Given the description of an element on the screen output the (x, y) to click on. 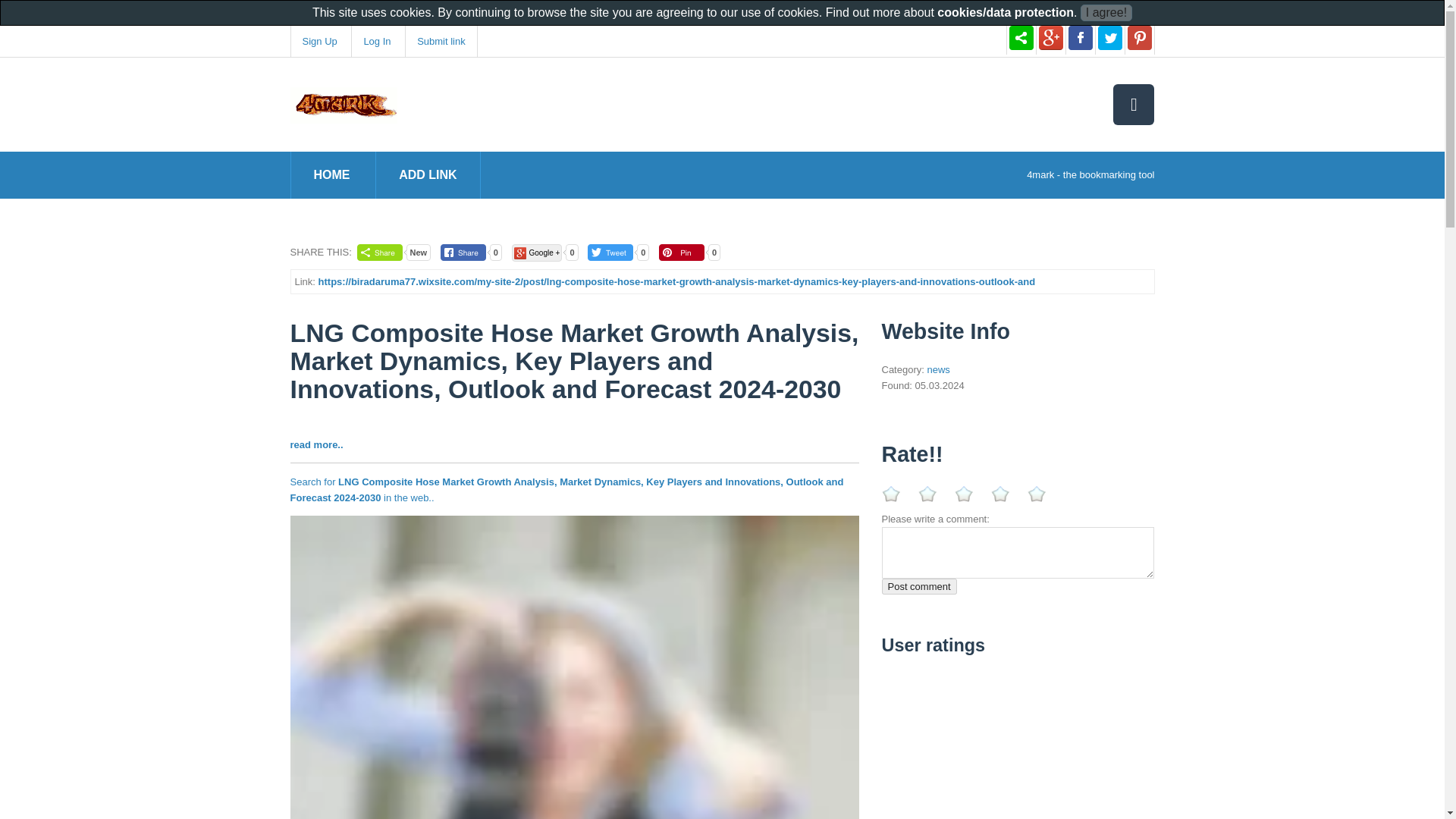
read more.. (315, 444)
Submit link (440, 40)
Log In (375, 40)
I agree! (1106, 12)
HOME (332, 174)
Sign Up (318, 40)
ADD LINK (427, 174)
Click to view! (574, 719)
Post comment (918, 586)
